Given the description of an element on the screen output the (x, y) to click on. 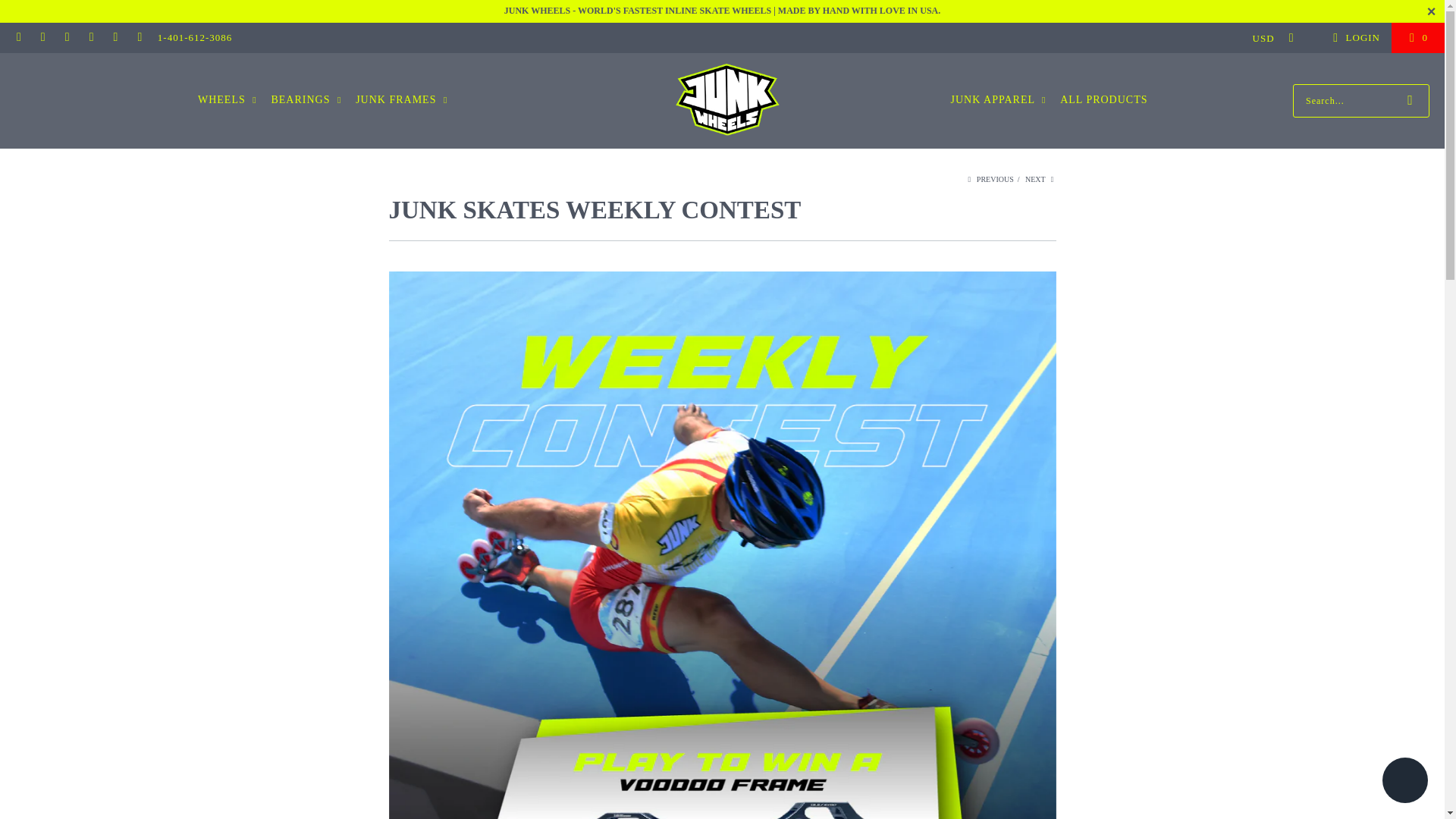
Junk Wheels on TikTok (90, 37)
Junk Wheels on Facebook (41, 37)
Junk Wheels on Instagram (66, 37)
Junk Wheels on YouTube (138, 37)
Junk Wheels on Twitter (114, 37)
Email Junk Wheels (17, 37)
My Account  (1353, 37)
Junk Wheels (727, 100)
